Given the description of an element on the screen output the (x, y) to click on. 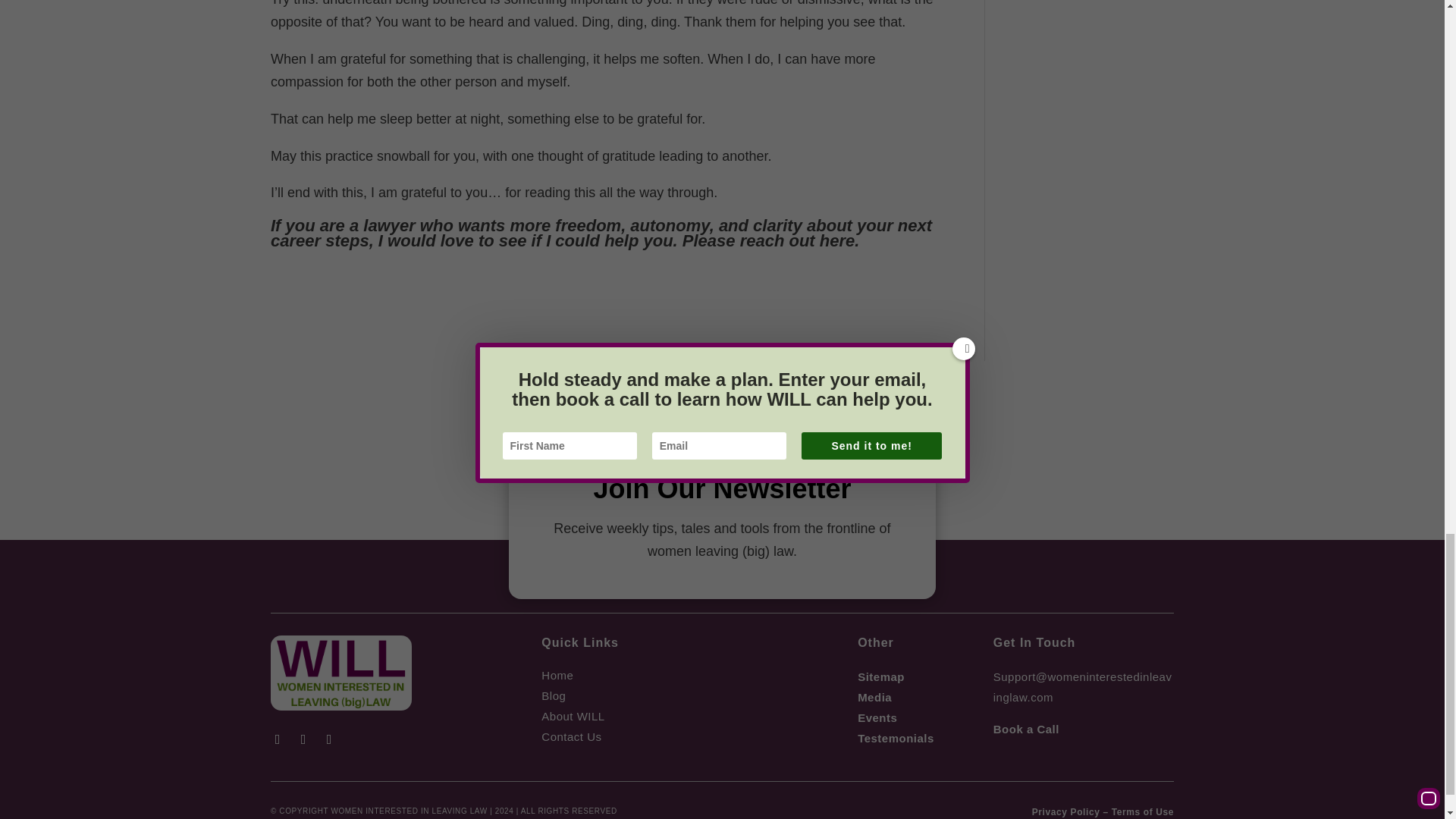
Follow on Instagram (328, 738)
Events (876, 717)
Follow on Facebook (277, 738)
Book a Call (1025, 728)
About WILL (572, 716)
Home (557, 675)
Blog (553, 695)
here (836, 240)
Testemonials (895, 738)
WILL logo (341, 672)
Media (874, 697)
Follow on LinkedIn (303, 738)
Contact Us (571, 736)
